Given the description of an element on the screen output the (x, y) to click on. 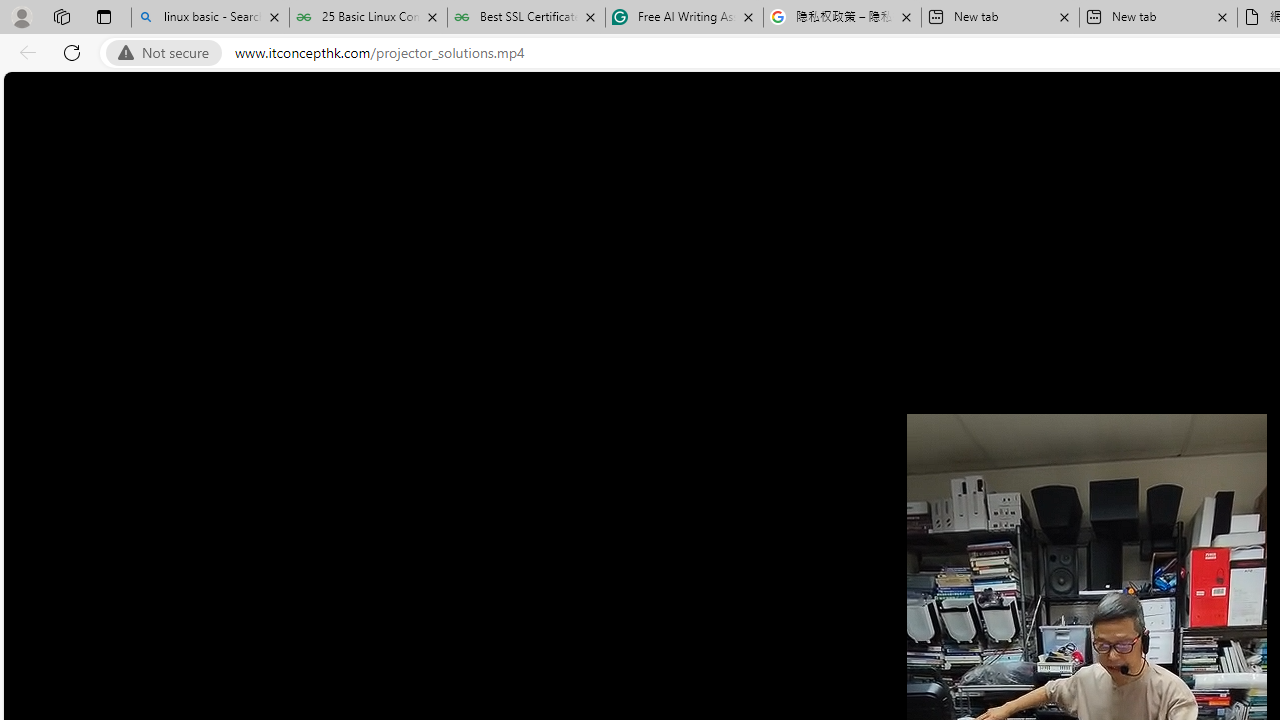
Not secure (168, 53)
linux basic - Search (210, 17)
